Given the description of an element on the screen output the (x, y) to click on. 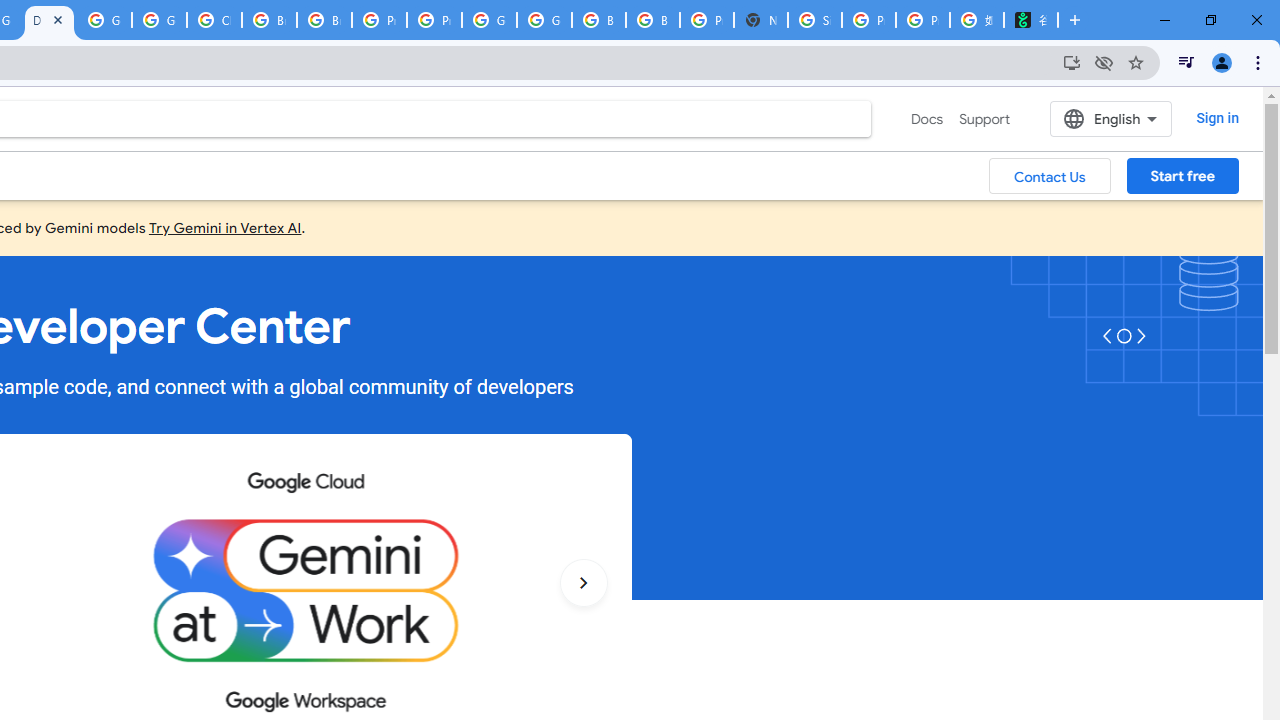
Contact Us (1050, 175)
Support (984, 119)
Browse Chrome as a guest - Computer - Google Chrome Help (652, 20)
Install Google Cloud (1071, 62)
Browse Chrome as a guest - Computer - Google Chrome Help (598, 20)
New Tab (760, 20)
